Given the description of an element on the screen output the (x, y) to click on. 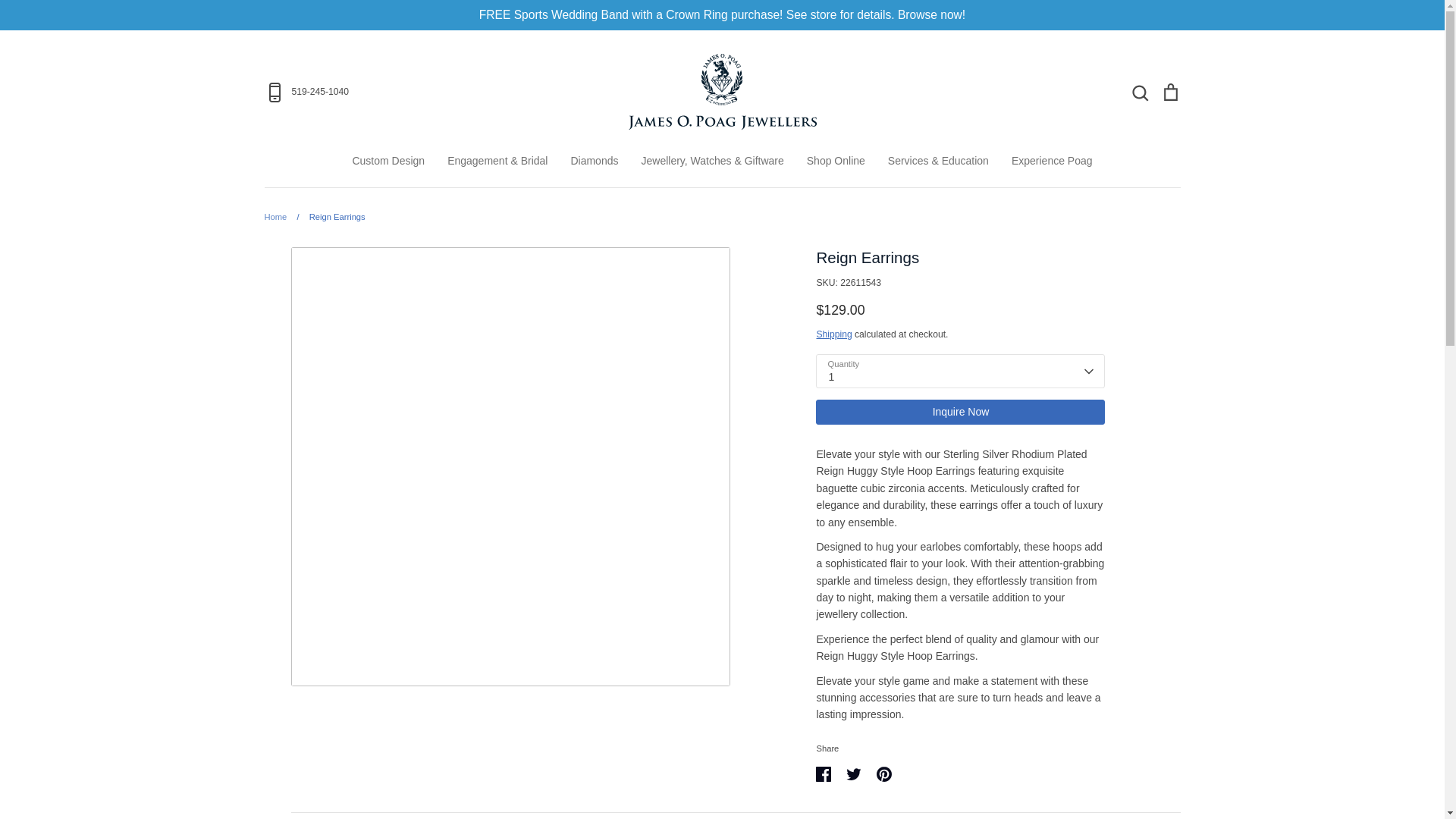
Diamonds (593, 160)
Cart (1169, 91)
Search (1139, 91)
519-245-1040 (414, 92)
Custom Design (388, 160)
